Given the description of an element on the screen output the (x, y) to click on. 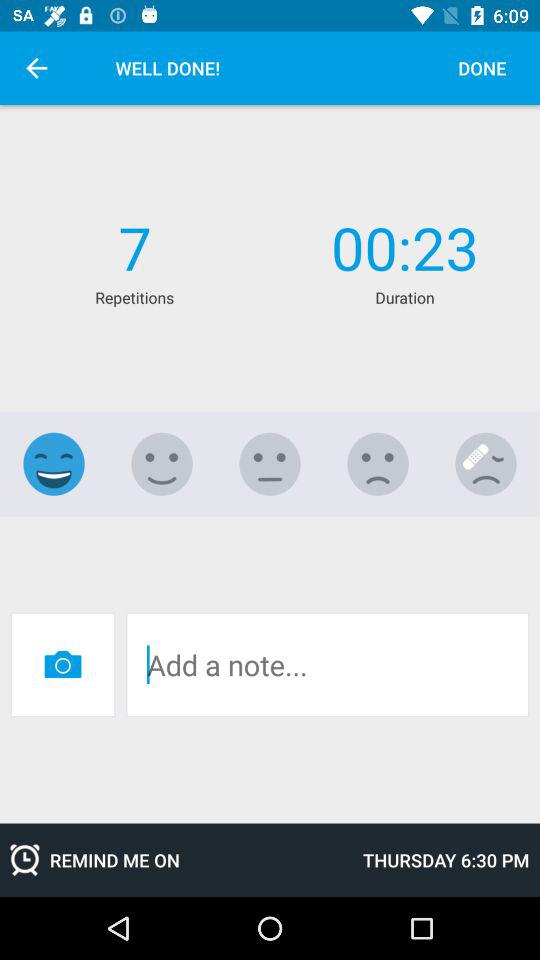
select icon next to the well done! (36, 68)
